Given the description of an element on the screen output the (x, y) to click on. 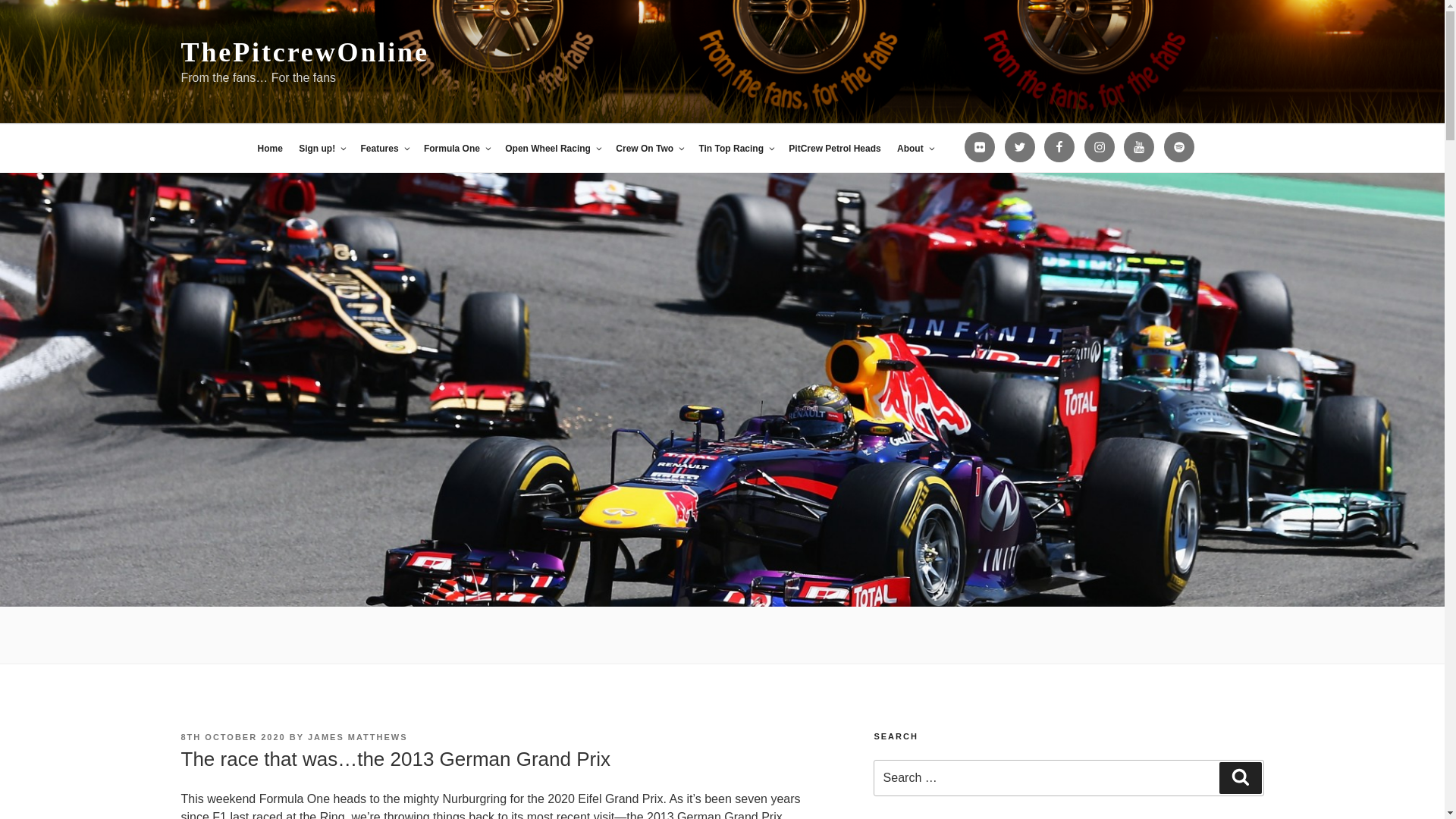
Formula One (456, 148)
Open Wheel Racing (552, 148)
Features (383, 148)
ThePitcrewOnline (304, 51)
Home (269, 148)
Sign up! (321, 148)
